Given the description of an element on the screen output the (x, y) to click on. 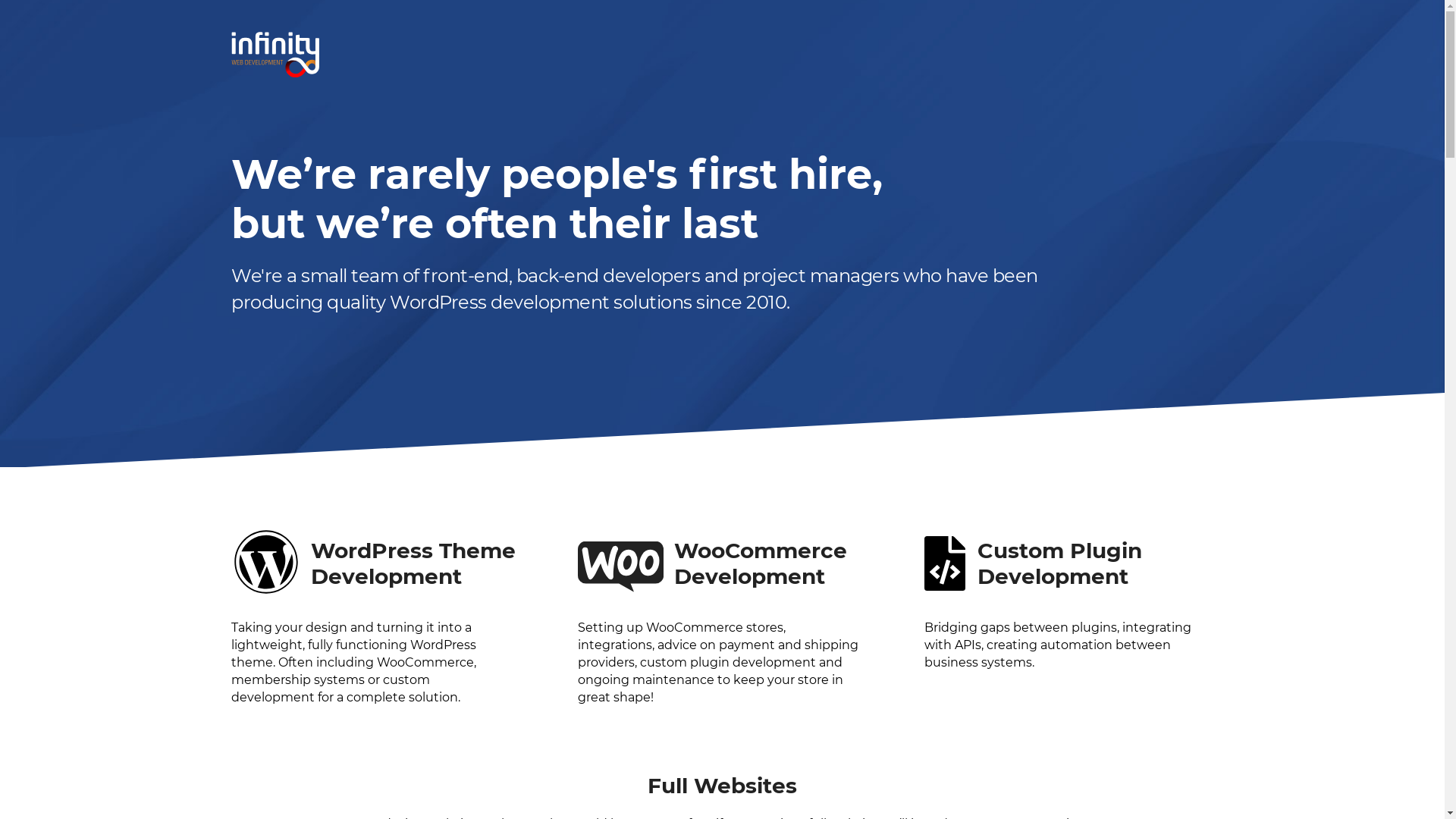
Infinity Web Development Element type: text (275, 54)
